Given the description of an element on the screen output the (x, y) to click on. 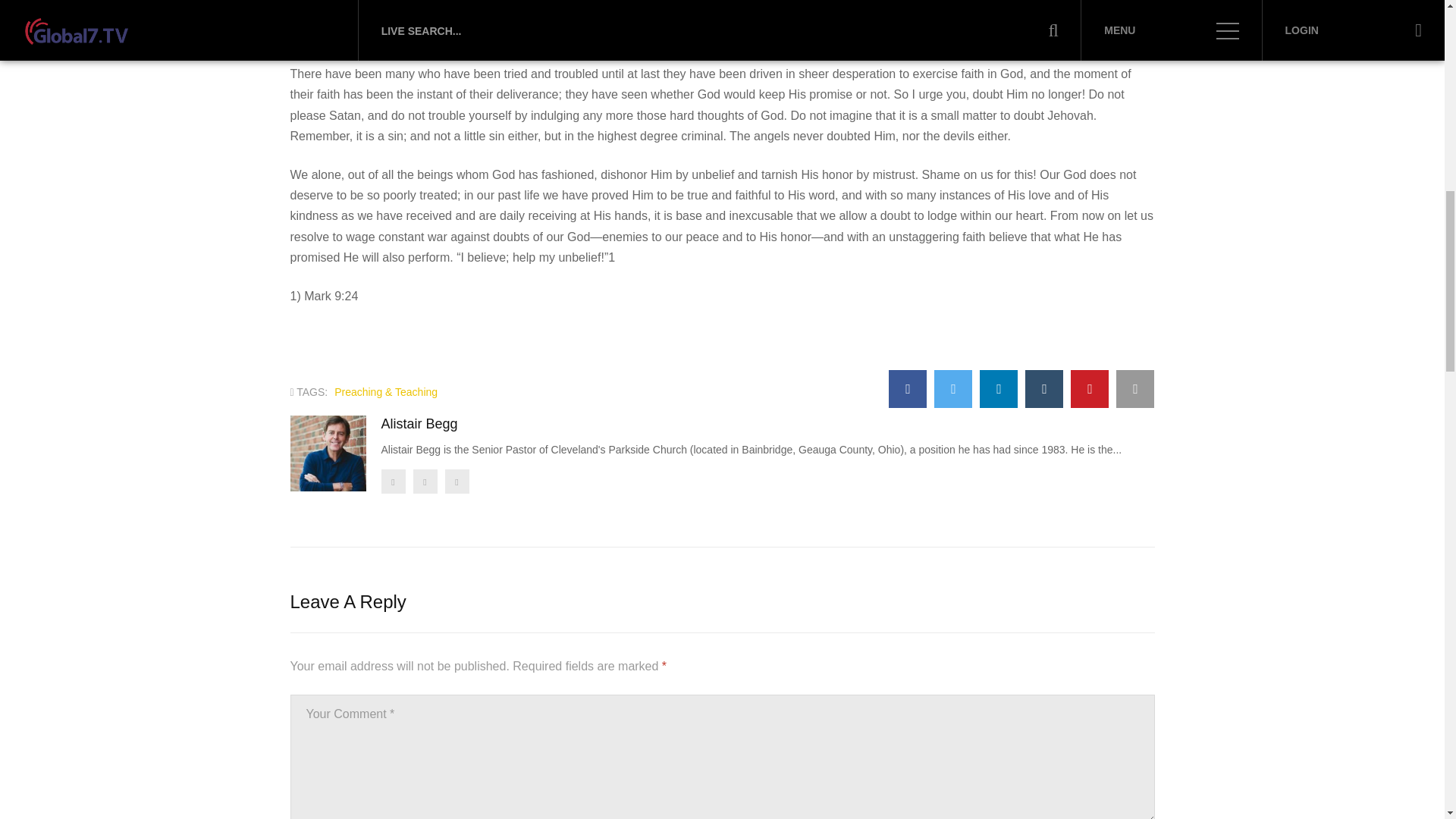
Share on LinkedIn (998, 388)
Share on Twitter (953, 388)
Share on Facebook (907, 388)
Pin this (1089, 388)
Share on Tumblr (1043, 388)
Email this (1135, 388)
